Given the description of an element on the screen output the (x, y) to click on. 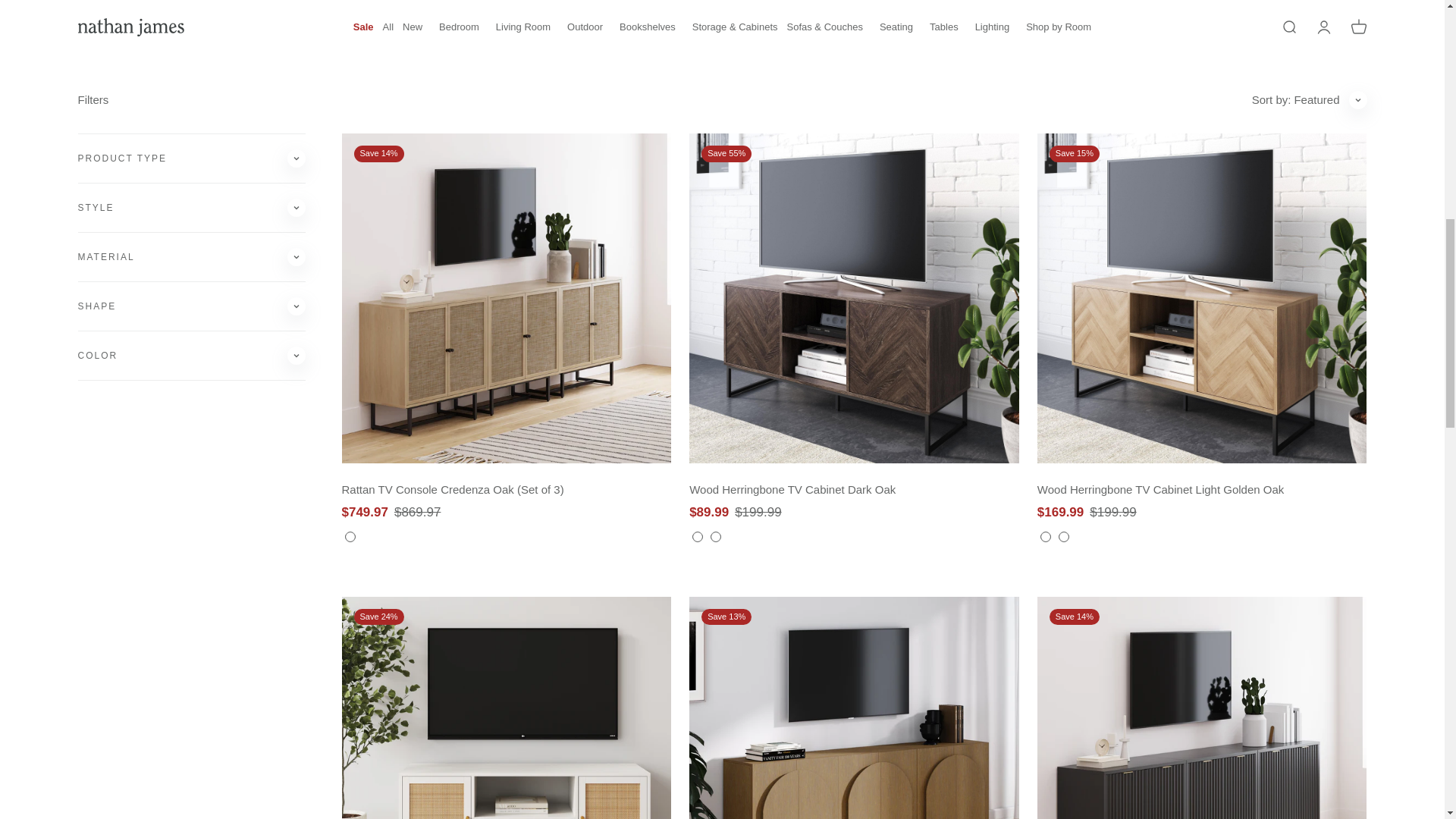
Light Golden Oak-Matte Black (190, 256)
